Given the description of an element on the screen output the (x, y) to click on. 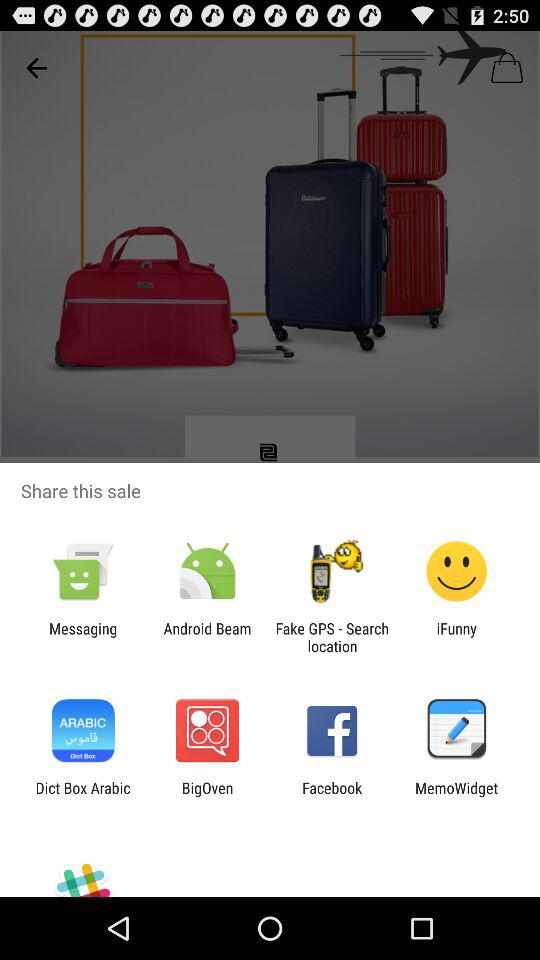
select the android beam app (207, 637)
